Given the description of an element on the screen output the (x, y) to click on. 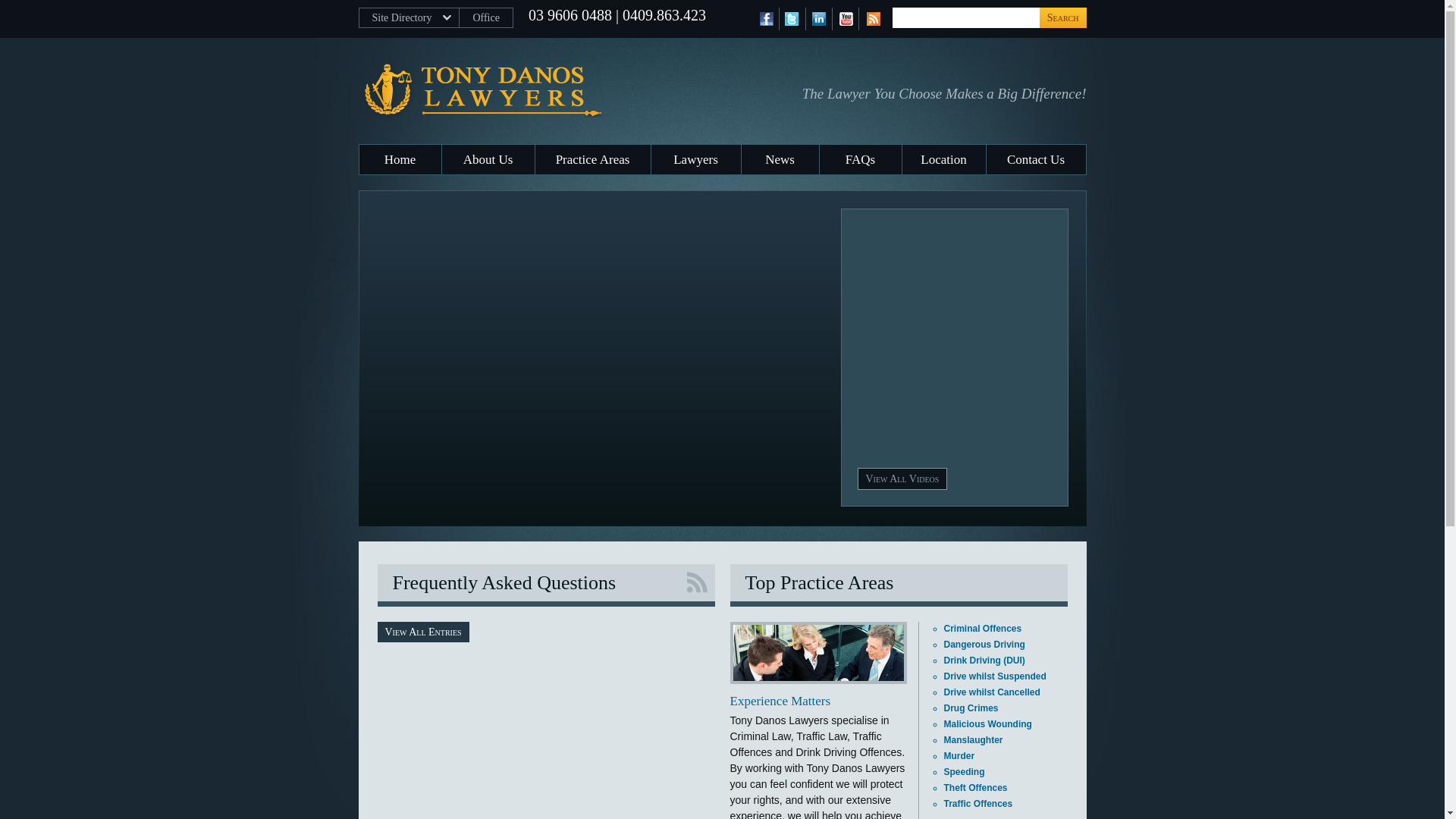
Drive whilst Cancelled Element type: text (991, 692)
View All Videos Element type: text (901, 478)
News Element type: text (780, 159)
RSS Feed Element type: text (695, 582)
FAQs Element type: text (859, 159)
Drug Crimes Element type: text (970, 707)
Contact Us Element type: text (1035, 159)
Drink Driving (DUI) Element type: text (983, 660)
Experience Matters Element type: text (779, 700)
Malicious Wounding Element type: text (987, 723)
Facebook Element type: text (765, 18)
Theft Offences Element type: text (975, 787)
Dangerous Driving Element type: text (983, 644)
LinkedIn Element type: text (818, 18)
Twitter Element type: text (792, 18)
Site Directory Element type: text (408, 17)
Traffic Offences Element type: text (977, 803)
Location Element type: text (943, 159)
Speeding Element type: text (963, 771)
YouTube Element type: text (845, 18)
Murder Element type: text (958, 755)
Manslaughter Element type: text (972, 739)
Tony Danos Lawyers Element type: text (550, 88)
Search Element type: text (1062, 17)
View All Entries Element type: text (423, 631)
Lawyers Element type: text (695, 159)
Home Element type: text (400, 159)
About Us Element type: text (487, 159)
RSS Feed Element type: text (871, 18)
Practice Areas Element type: text (592, 159)
Office Element type: text (486, 17)
Criminal Offences Element type: text (982, 628)
Drive whilst Suspended Element type: text (994, 676)
